Given the description of an element on the screen output the (x, y) to click on. 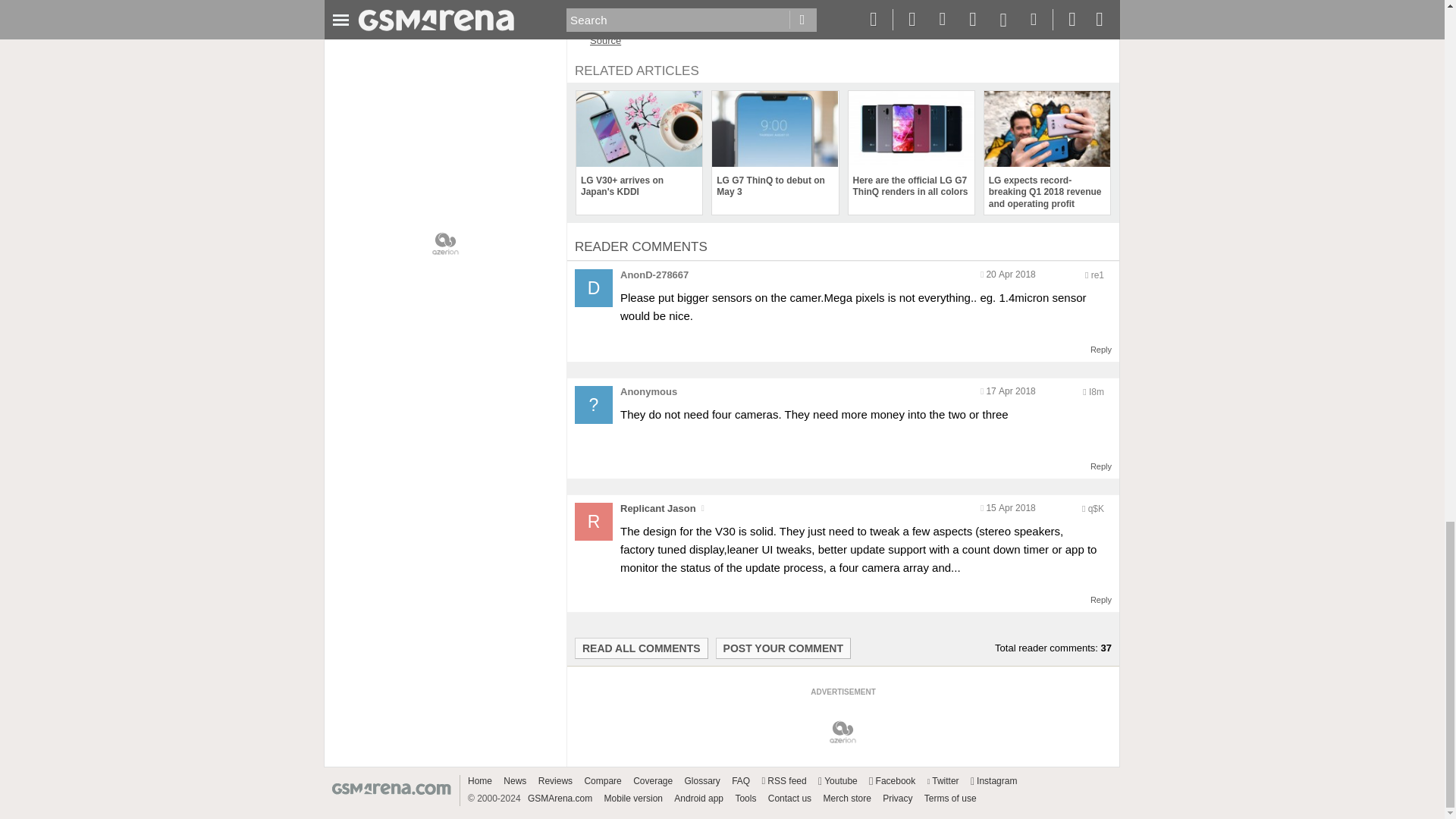
Encoded anonymized location (1096, 275)
Source (605, 40)
Reply to this post (1101, 599)
Reply to this post (1101, 348)
Encoded anonymized location (1096, 391)
Reply to this post (1101, 465)
Encoded anonymized location (1095, 508)
